Given the description of an element on the screen output the (x, y) to click on. 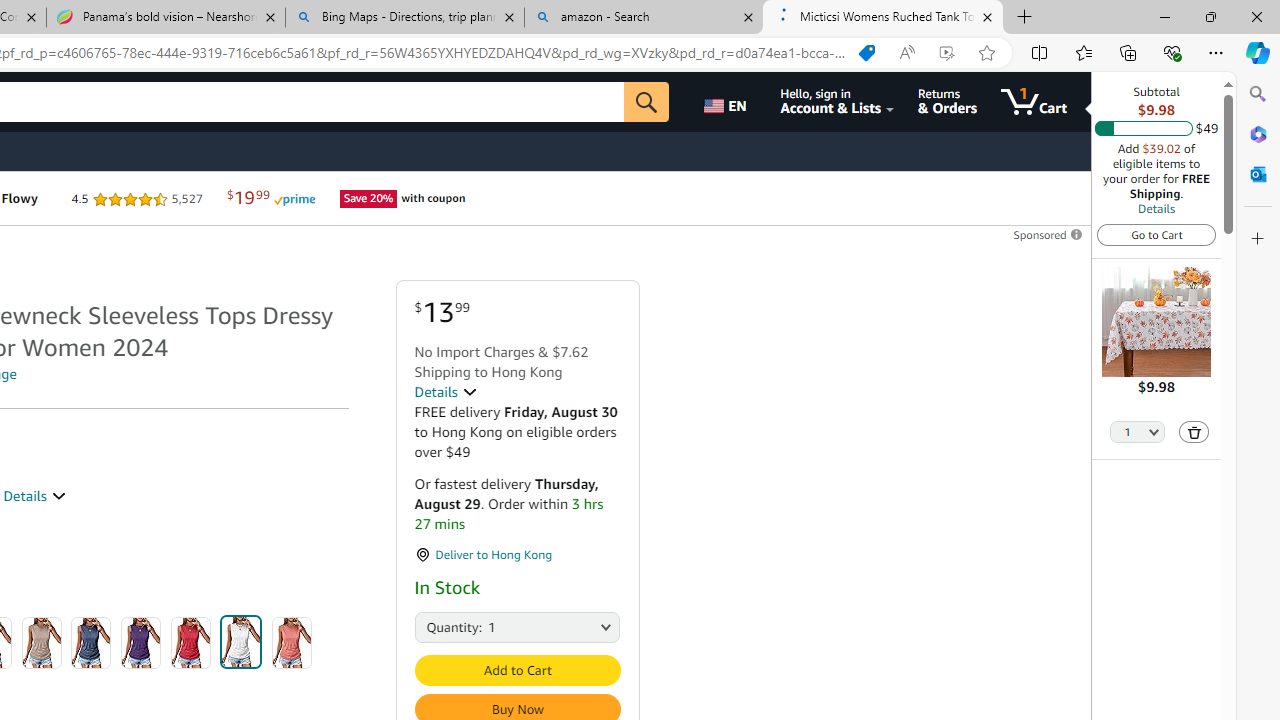
Prime (742, 198)
Delete (1194, 431)
Quantity Selector (1137, 433)
White (241, 641)
Go to Cart (1156, 234)
Khaki (41, 642)
Pink (292, 642)
Delete (1193, 431)
Returns & Orders (946, 101)
Enhance video (946, 53)
